Given the description of an element on the screen output the (x, y) to click on. 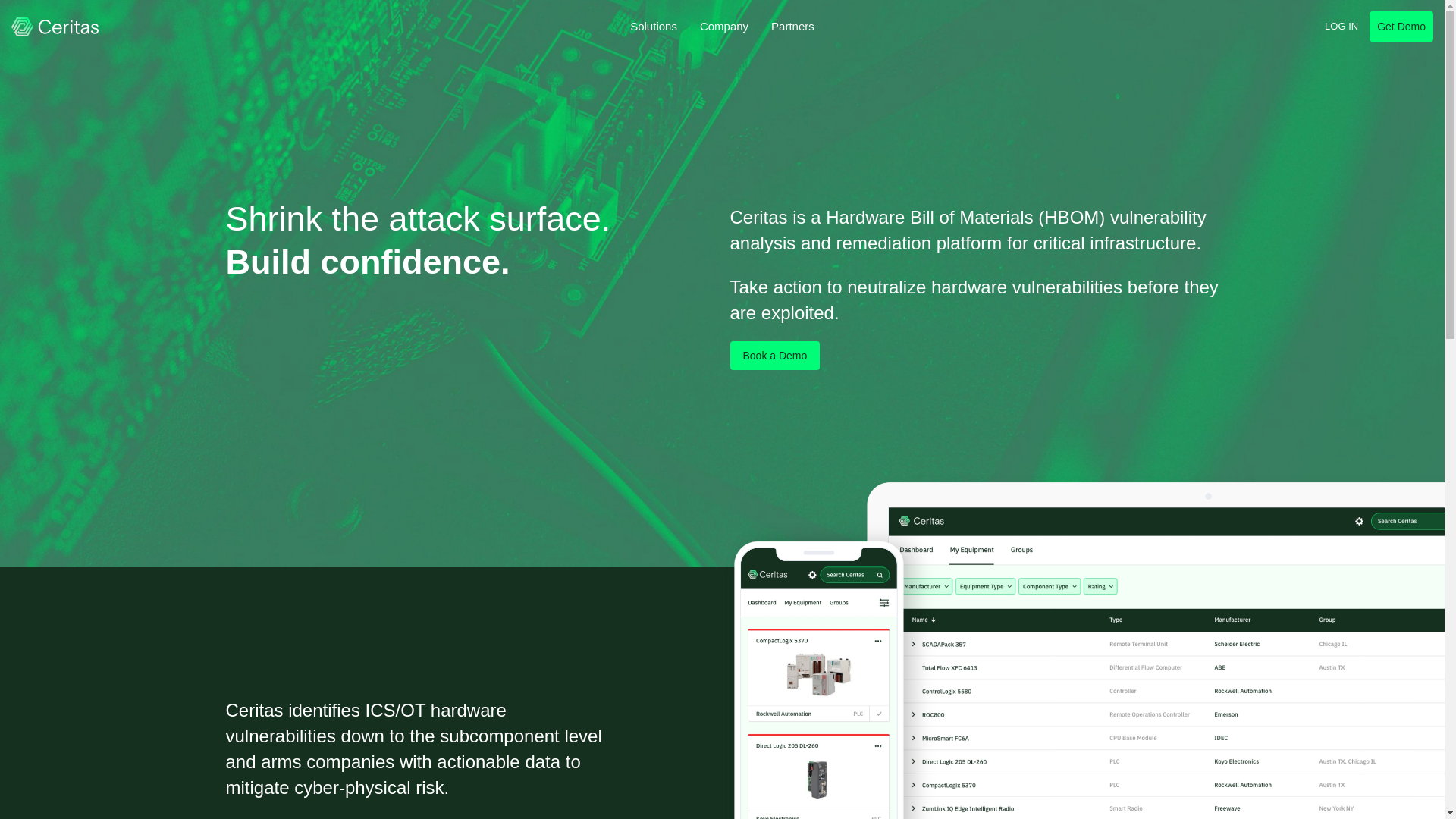
LOG IN (1343, 26)
Book a Demo (774, 355)
Solutions (653, 26)
Ceritas (55, 26)
Partners (792, 26)
Get Demo (1401, 26)
Company (724, 26)
